Given the description of an element on the screen output the (x, y) to click on. 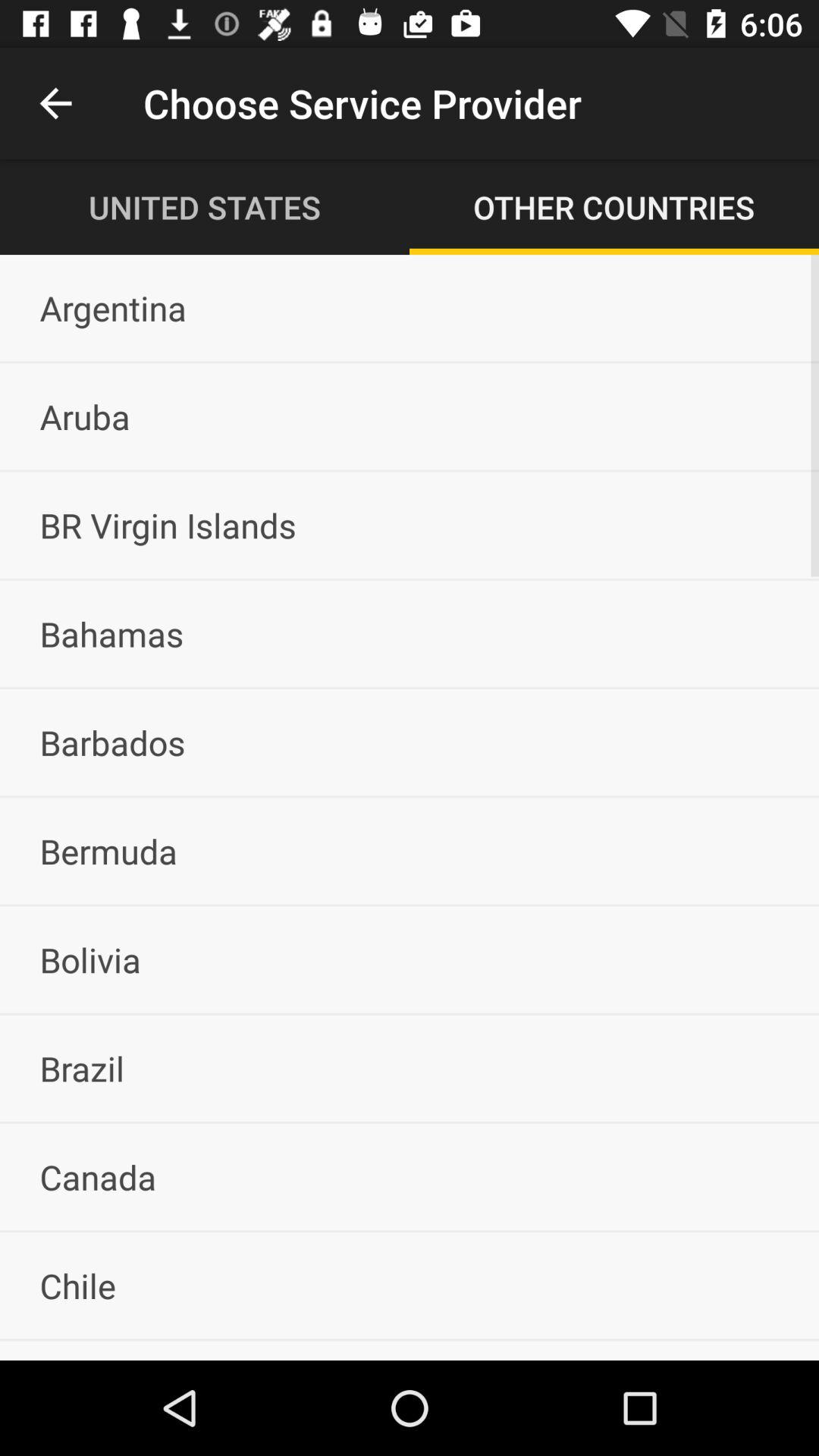
click bermuda icon (409, 850)
